Given the description of an element on the screen output the (x, y) to click on. 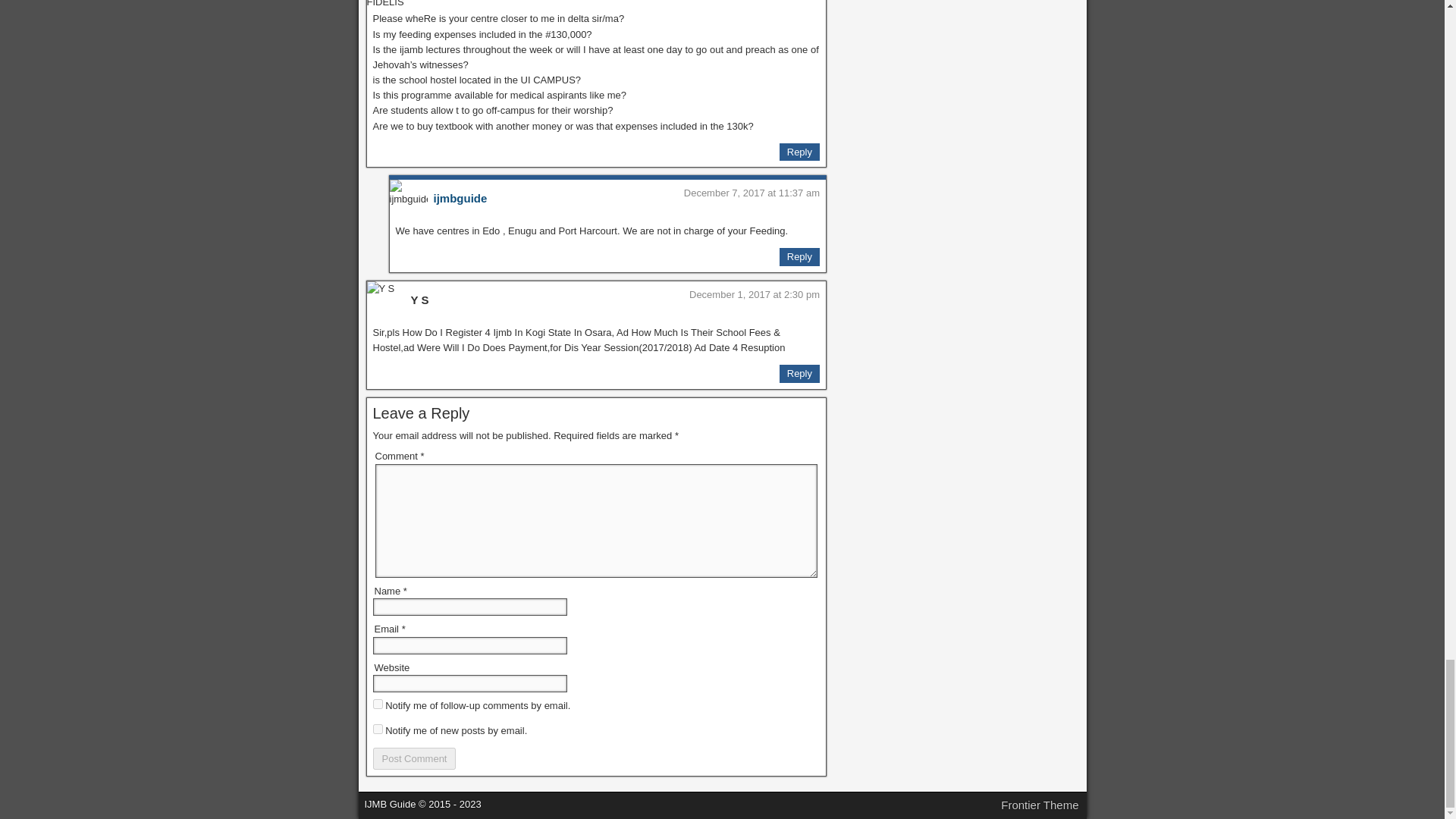
subscribe (377, 728)
Post Comment (414, 758)
subscribe (377, 704)
